Given the description of an element on the screen output the (x, y) to click on. 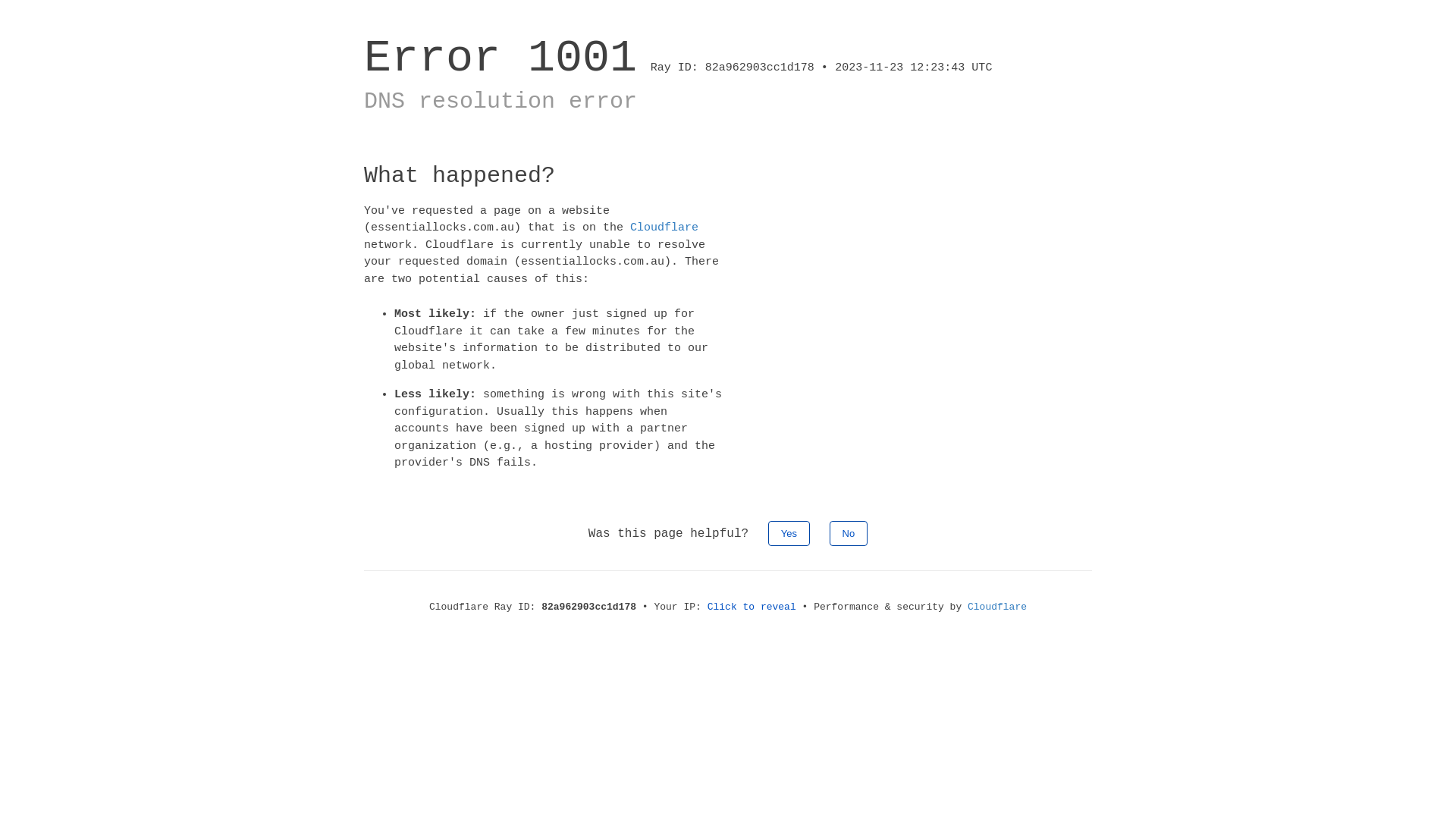
Cloudflare Element type: text (664, 227)
Click to reveal Element type: text (751, 605)
No Element type: text (848, 532)
Yes Element type: text (788, 532)
Cloudflare Element type: text (996, 605)
